Given the description of an element on the screen output the (x, y) to click on. 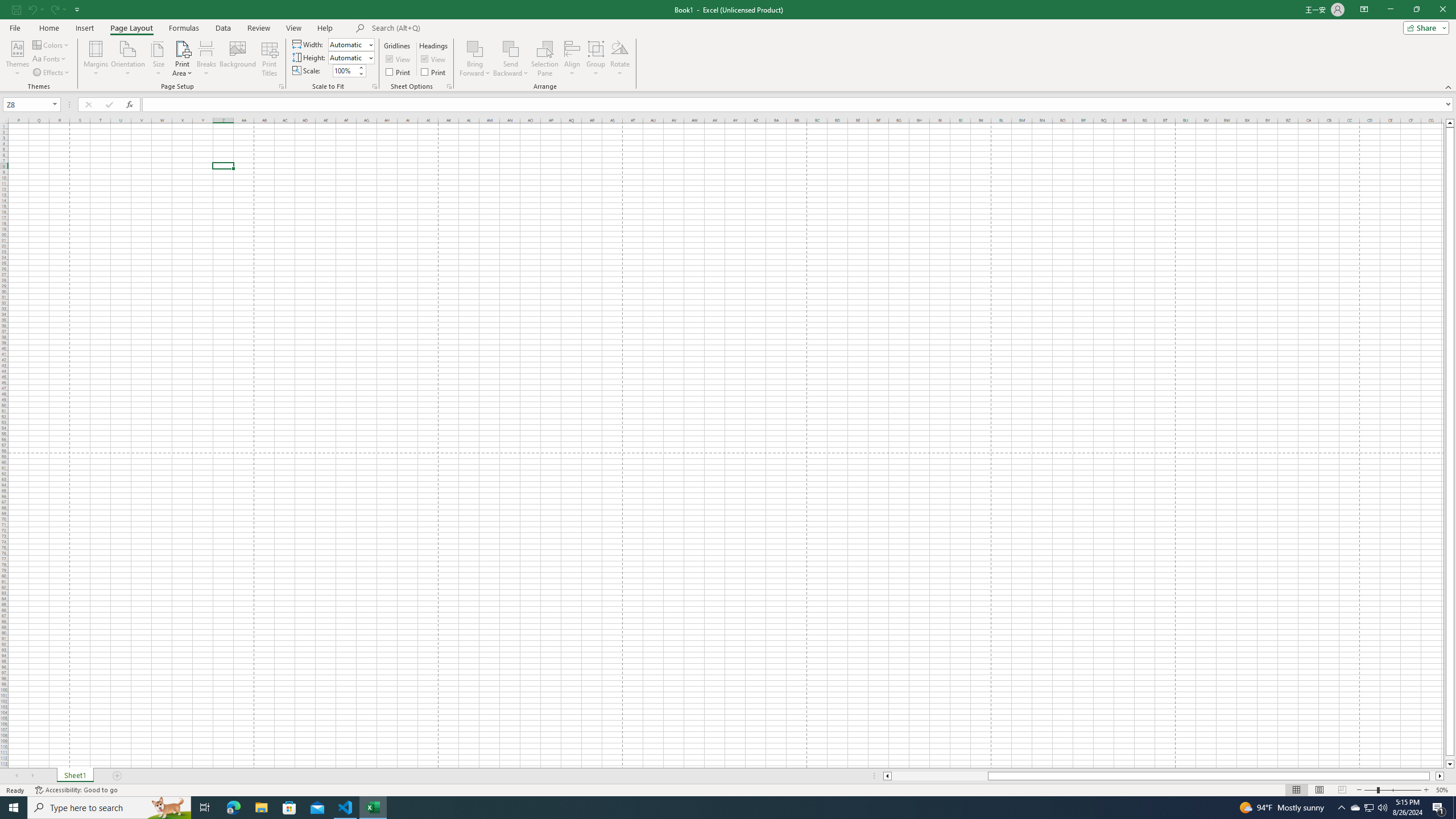
Formula Bar (798, 104)
Width (347, 44)
Class: MsoCommandBar (728, 45)
Scale (344, 70)
Less (360, 73)
